Given the description of an element on the screen output the (x, y) to click on. 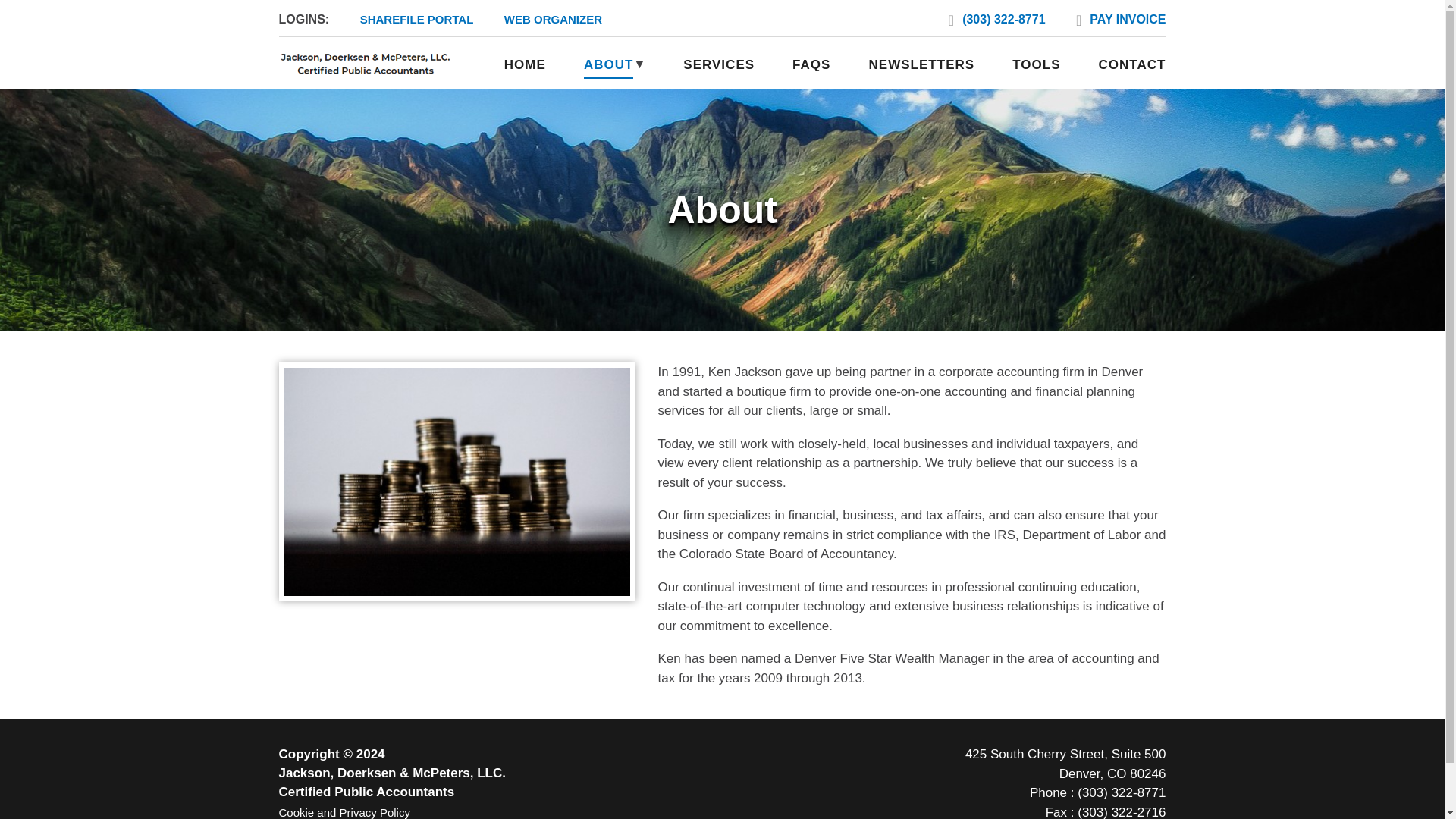
NEWSLETTERS (920, 65)
FAQS (810, 65)
WEB ORGANIZER (552, 19)
SERVICES (1065, 763)
PAY INVOICE (718, 65)
HOME (1127, 19)
TOOLS (524, 65)
SHAREFILE PORTAL (1035, 65)
ShareFile Portal Login (416, 19)
